Given the description of an element on the screen output the (x, y) to click on. 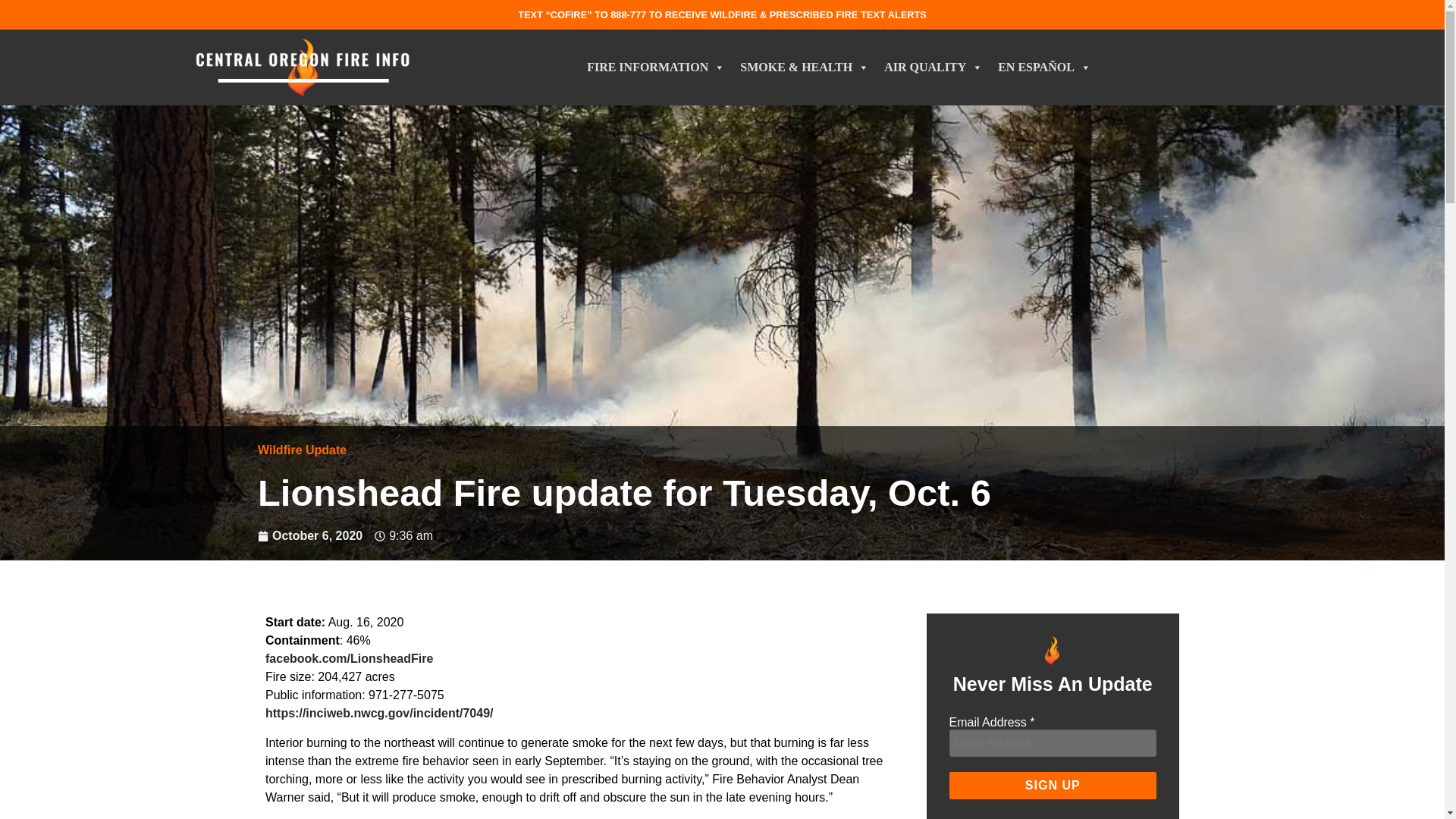
October 6, 2020 (309, 536)
SIGN UP (1053, 785)
SIGN UP (1053, 785)
AIR QUALITY (933, 67)
Email Address (1053, 742)
FIRE INFORMATION (655, 67)
Wildfire Update (301, 449)
